Given the description of an element on the screen output the (x, y) to click on. 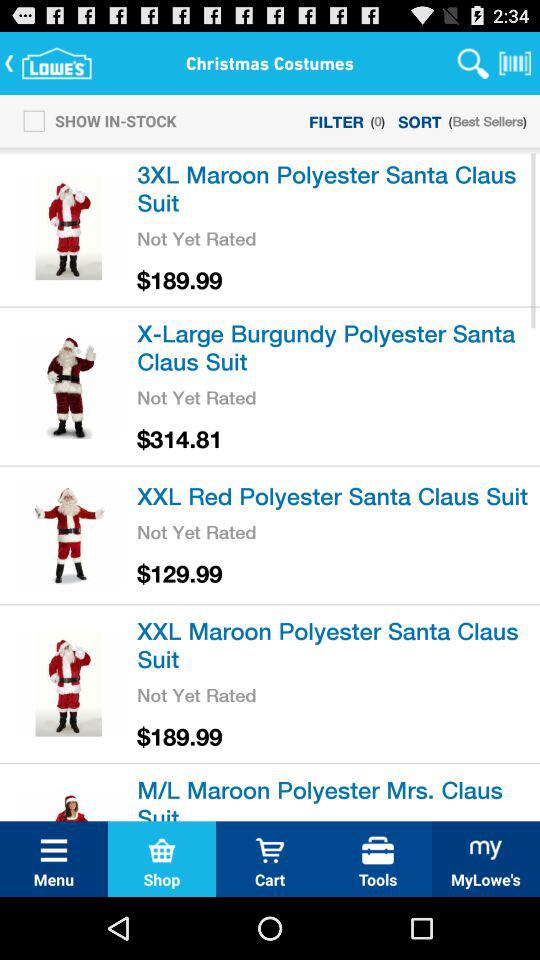
tap the m l maroon icon (335, 796)
